Given the description of an element on the screen output the (x, y) to click on. 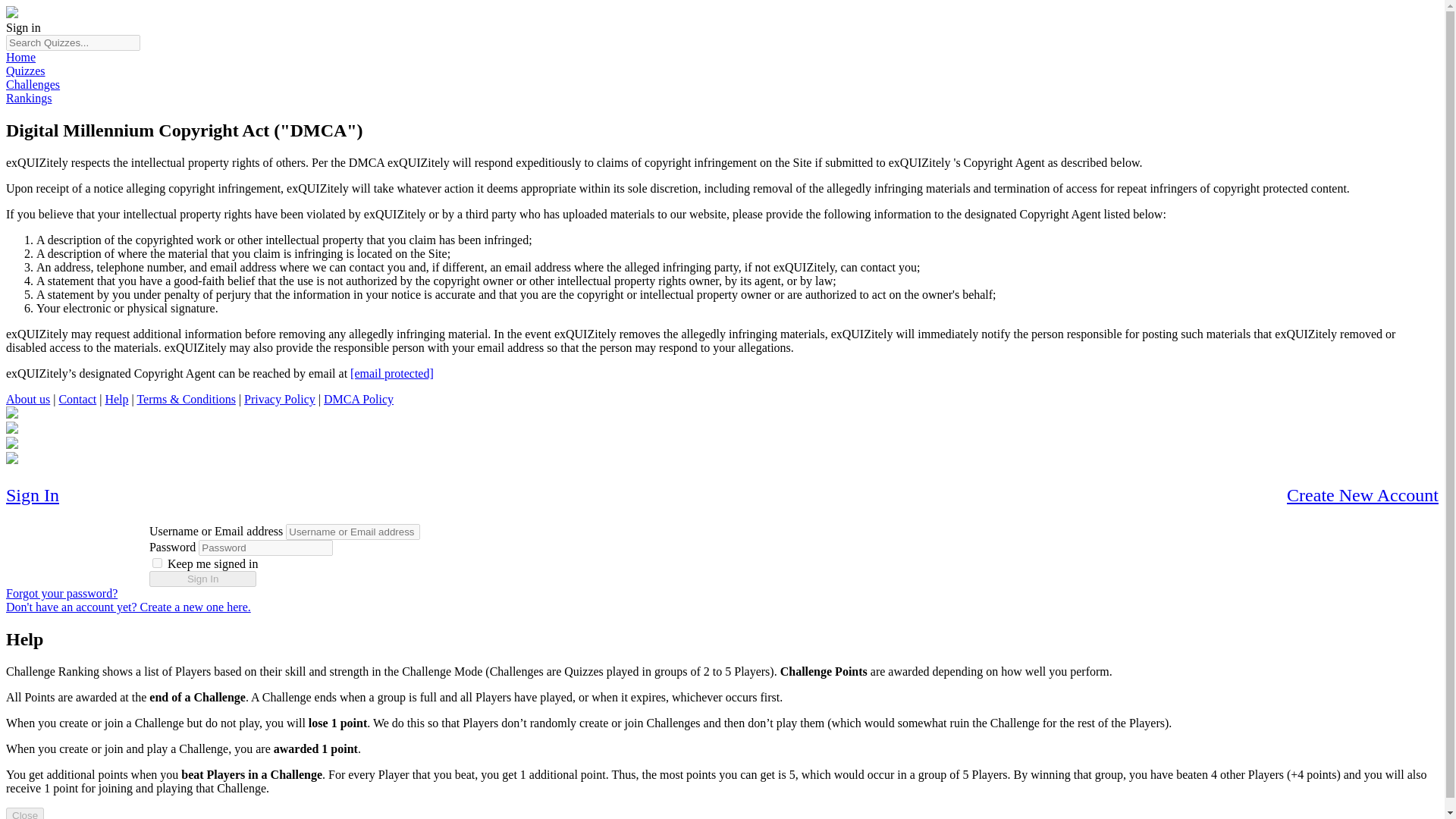
Quizzes (25, 70)
Help (116, 399)
DMCA Policy (358, 399)
Challenges (32, 83)
1 (156, 562)
About us (27, 399)
Rankings (27, 97)
Don't have an account yet? Create a new one here. (127, 606)
Contact (77, 399)
Sign In (32, 495)
